Given the description of an element on the screen output the (x, y) to click on. 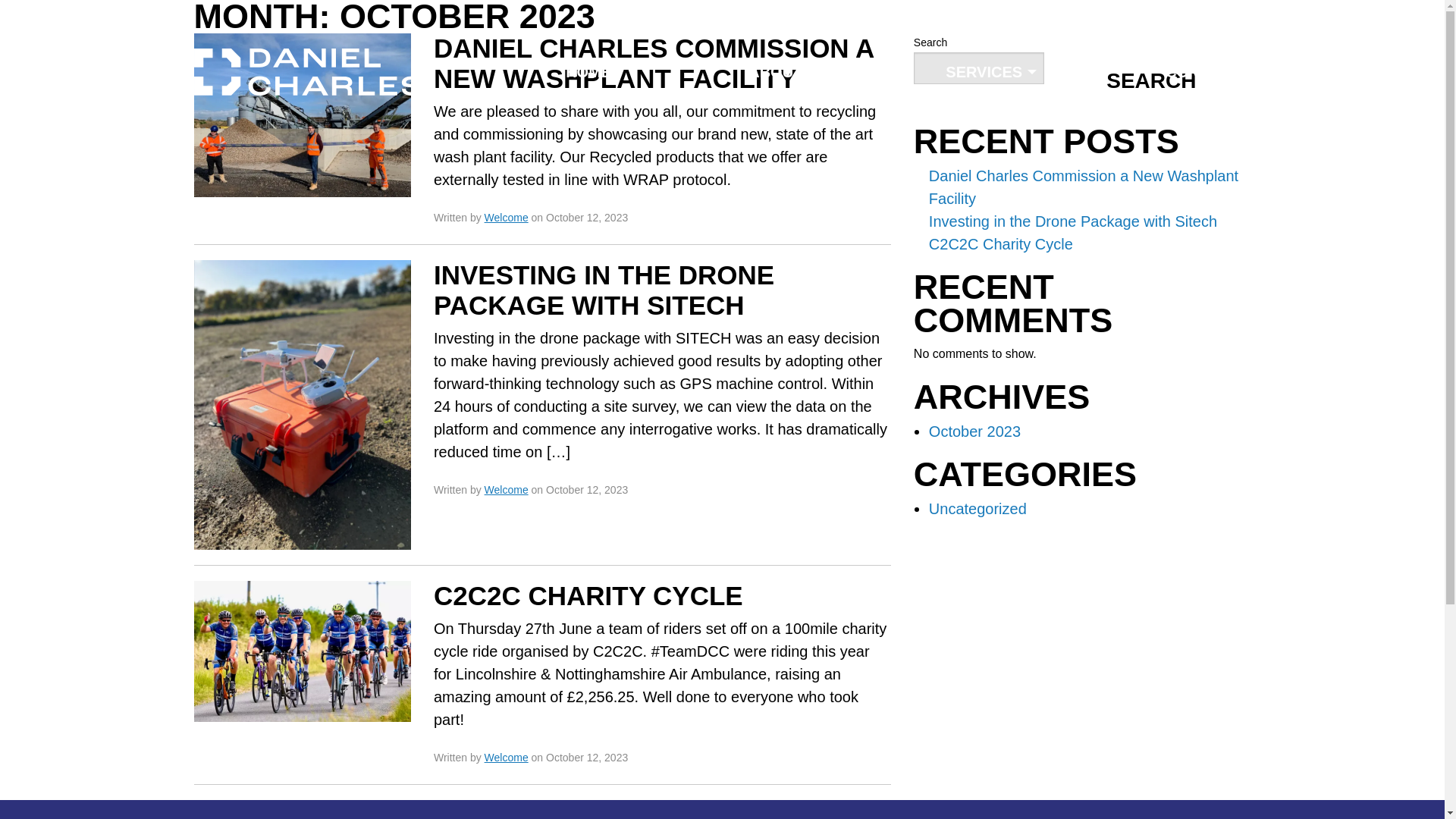
SEARCH (1150, 80)
Investing in the Drone Package with Sitech (1072, 221)
C2C2C CHARITY CYCLE (587, 595)
Posts by Welcome (506, 757)
INVESTING IN THE DRONE PACKAGE WITH SITECH (603, 290)
ABOUT (778, 71)
Welcome (506, 217)
Permalink to Investing in the Drone Package with Sitech (603, 290)
Daniel Charles Commission a New Washplant Facility (1083, 187)
Daniel Charles Commission a New Washplant Facility (301, 113)
